Given the description of an element on the screen output the (x, y) to click on. 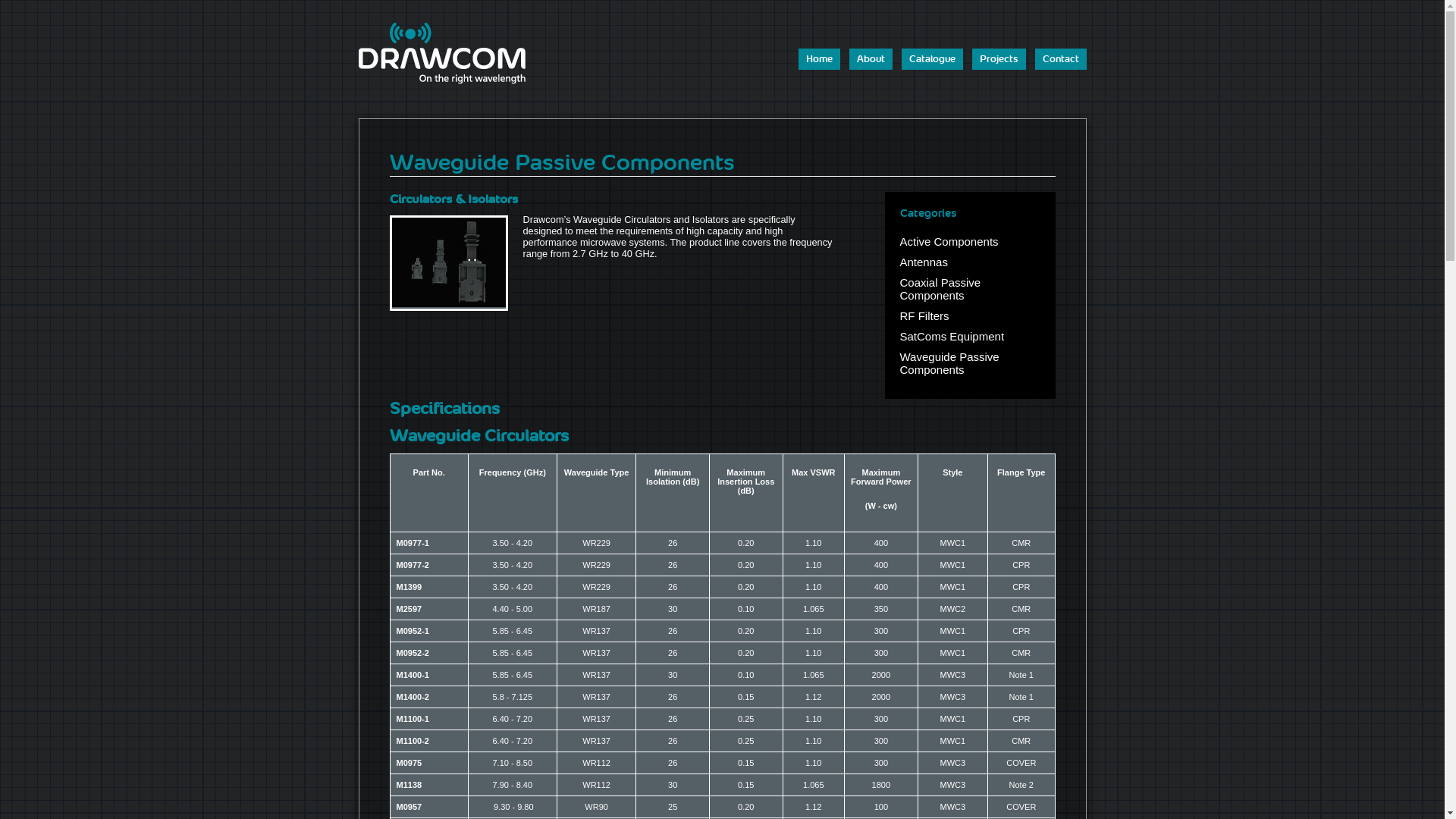
SatComs Equipment Element type: text (951, 335)
Waveguide Passive Components Element type: text (948, 363)
Contact Element type: text (1059, 58)
Home Element type: text (818, 58)
Antennas Element type: text (923, 261)
Circulators & Isolators Element type: hover (448, 303)
Projects Element type: text (999, 58)
RF Filters Element type: text (923, 315)
Active Components Element type: text (948, 241)
About Element type: text (870, 58)
Coaxial Passive Components Element type: text (939, 288)
Catalogue Element type: text (931, 58)
Drawcom Element type: text (440, 53)
